Given the description of an element on the screen output the (x, y) to click on. 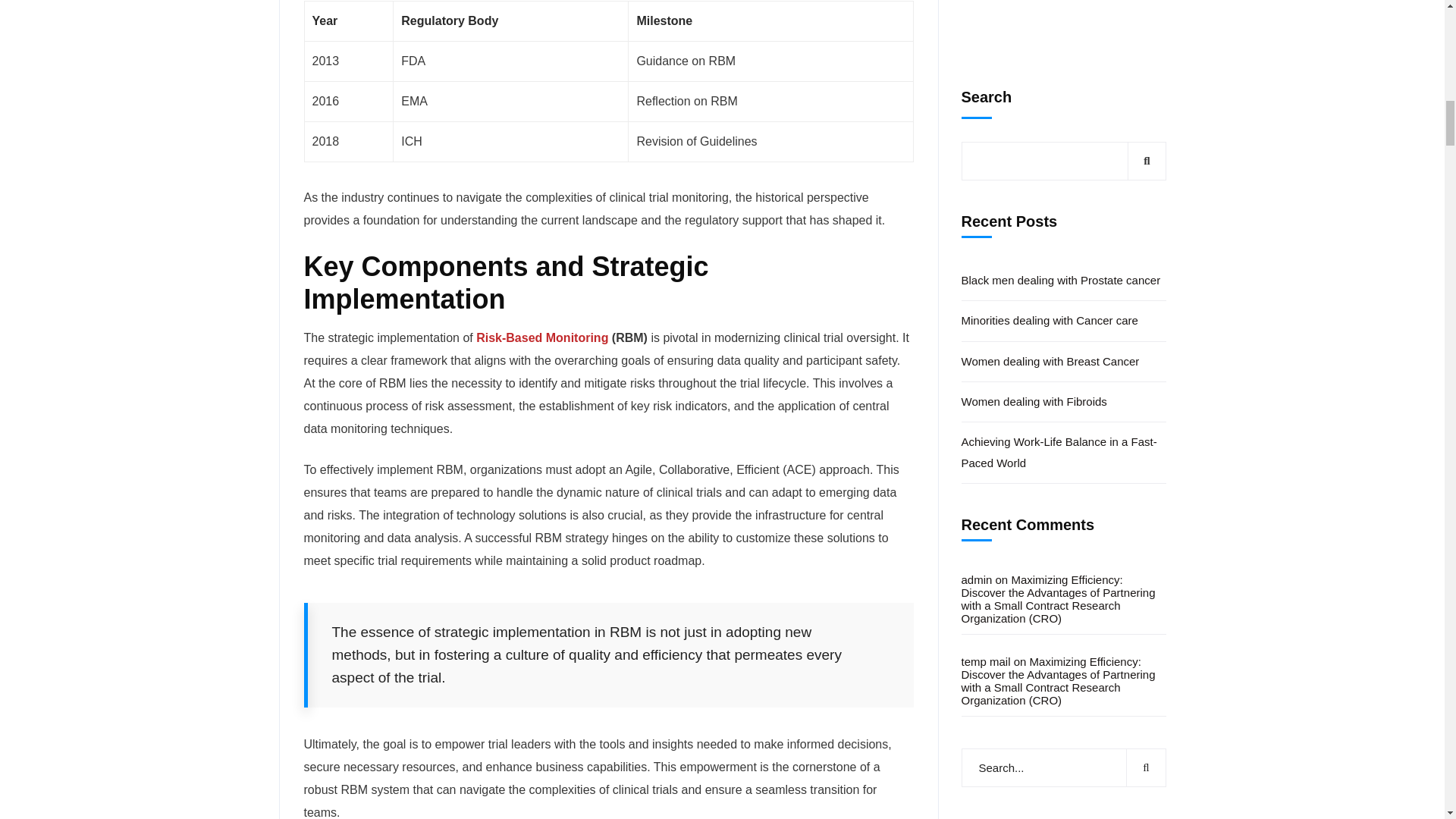
Risk-Based Monitoring (542, 337)
